Given the description of an element on the screen output the (x, y) to click on. 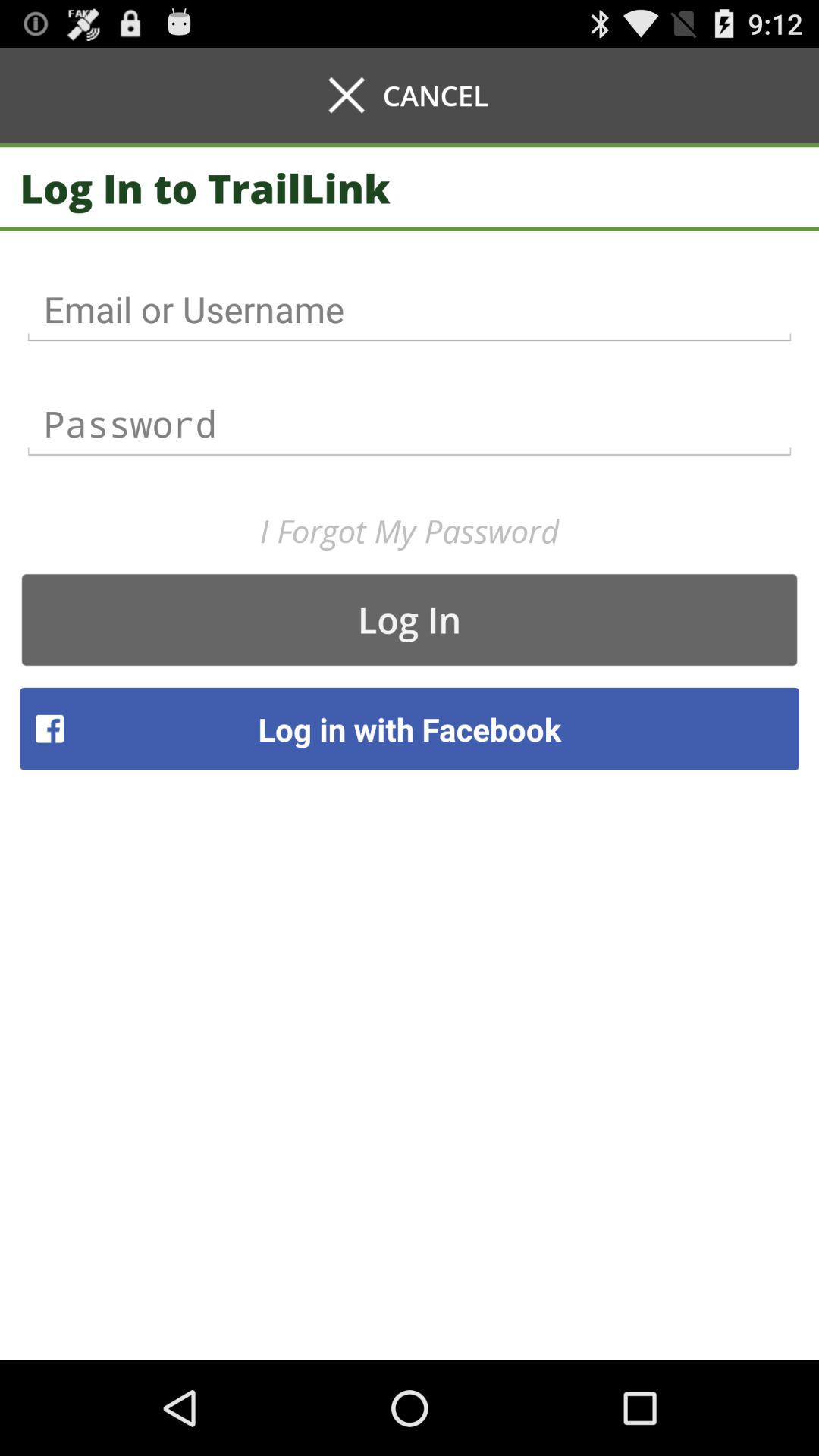
launch the i forgot my item (409, 530)
